Given the description of an element on the screen output the (x, y) to click on. 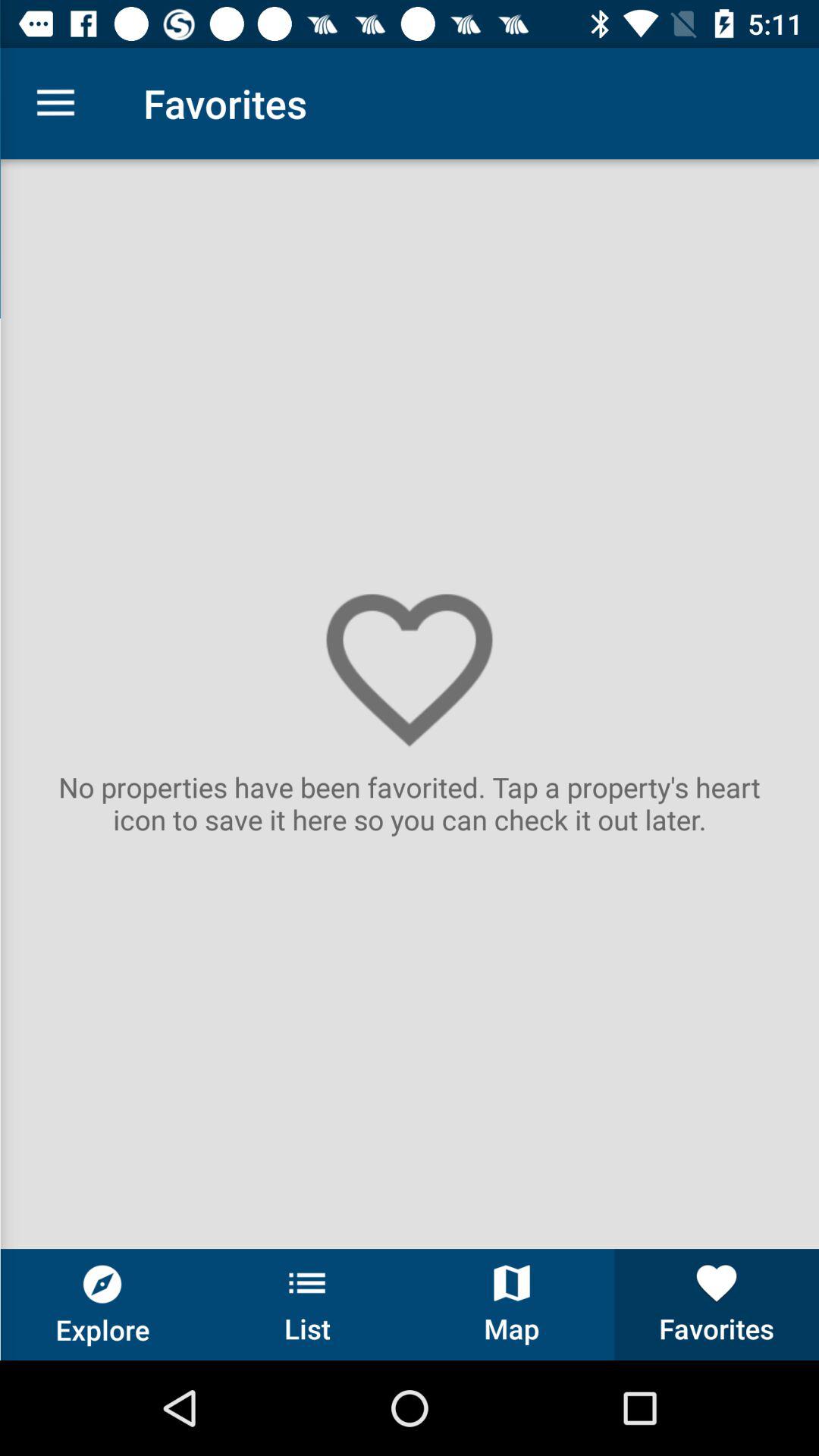
choose item at the bottom left corner (102, 1304)
